Given the description of an element on the screen output the (x, y) to click on. 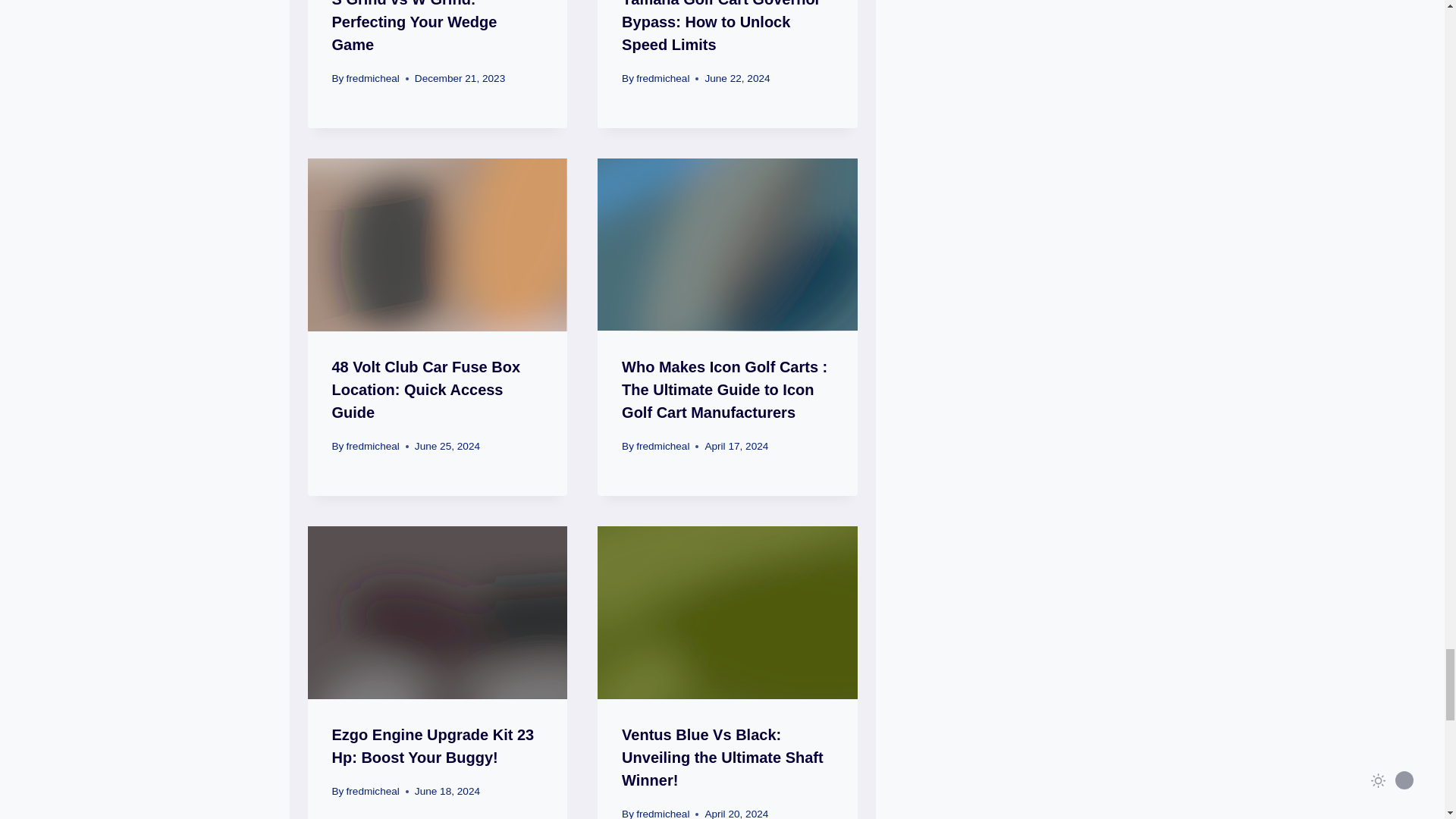
fredmicheal (372, 78)
fredmicheal (662, 446)
fredmicheal (372, 790)
fredmicheal (372, 446)
Ezgo Engine Upgrade Kit 23 Hp: Boost Your Buggy! (432, 745)
48 Volt Club Car Fuse Box Location: Quick Access Guide (426, 389)
fredmicheal (662, 78)
Yamaha Golf Cart Governor Bypass: How to Unlock Speed Limits (721, 26)
S Grind vs W Grind: Perfecting Your Wedge Game (414, 26)
